Given the description of an element on the screen output the (x, y) to click on. 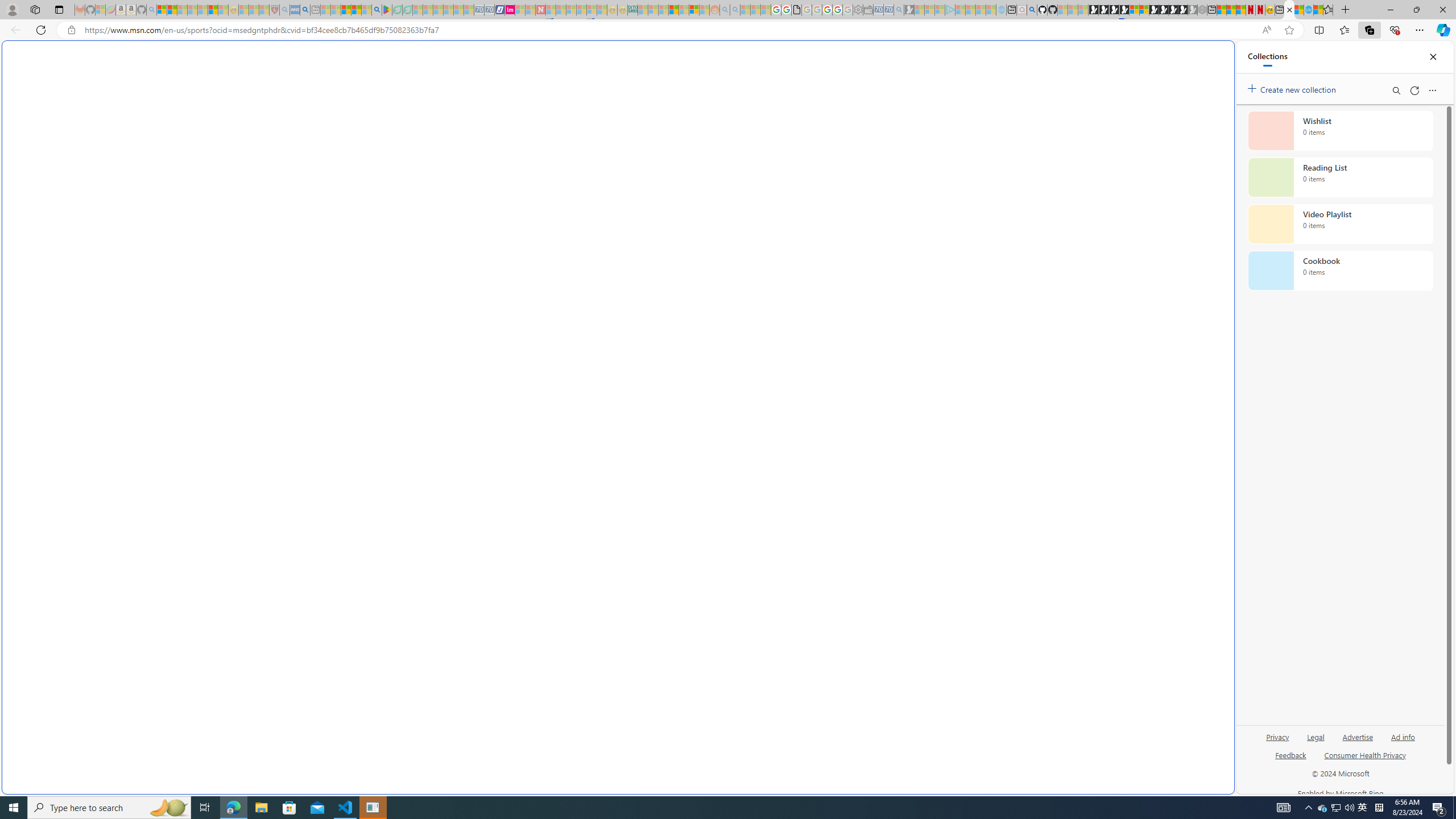
Jobs - lastminute.com Investor Portal (509, 9)
Bluey: Let's Play! - Apps on Google Play (387, 9)
